Given the description of an element on the screen output the (x, y) to click on. 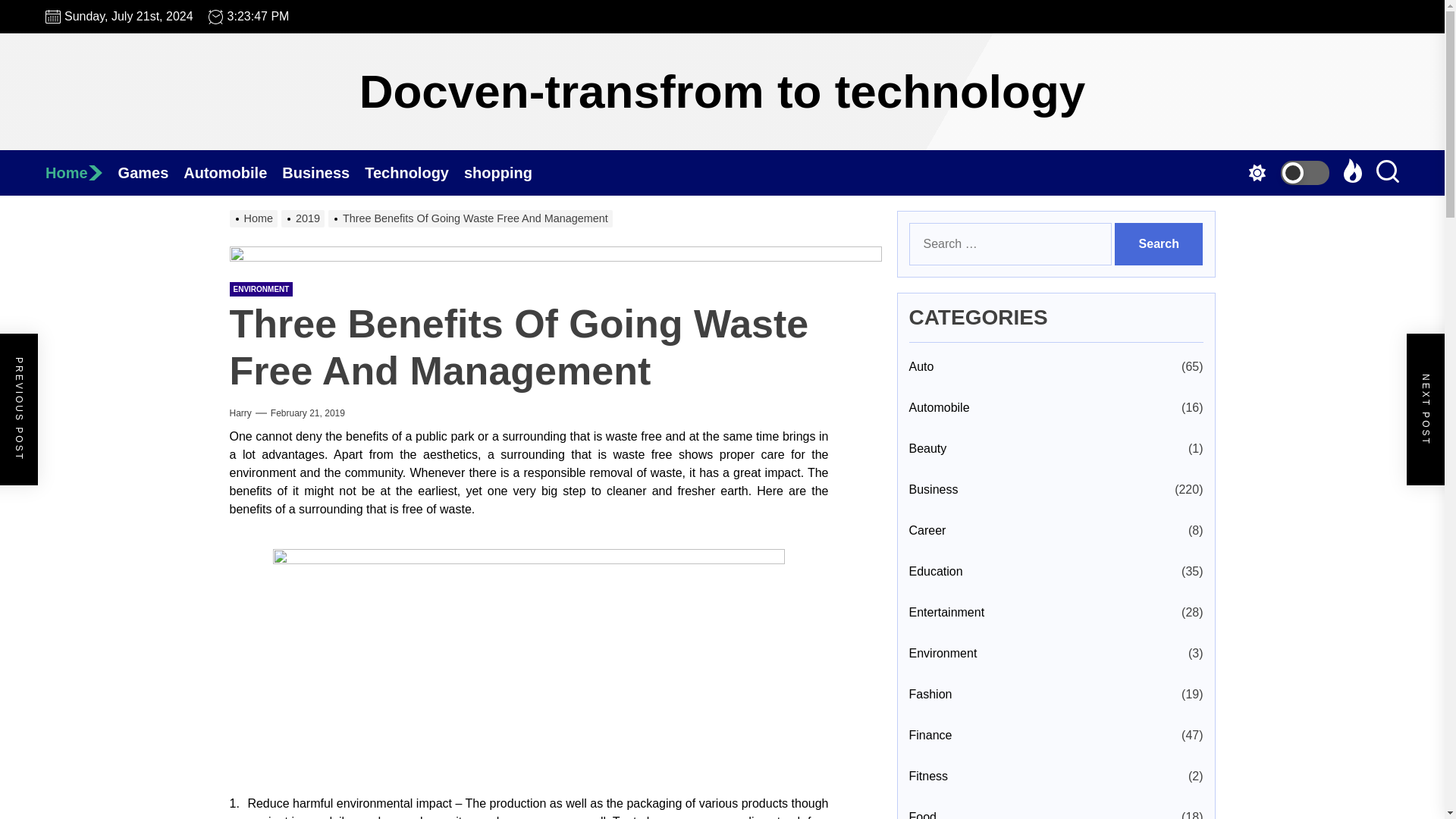
Search (1158, 243)
Docven-transfrom to technology (722, 91)
Games (150, 172)
shopping (505, 172)
Search (1158, 243)
Home (81, 172)
Technology (414, 172)
Home (81, 172)
Business (323, 172)
Automobile (232, 172)
